Given the description of an element on the screen output the (x, y) to click on. 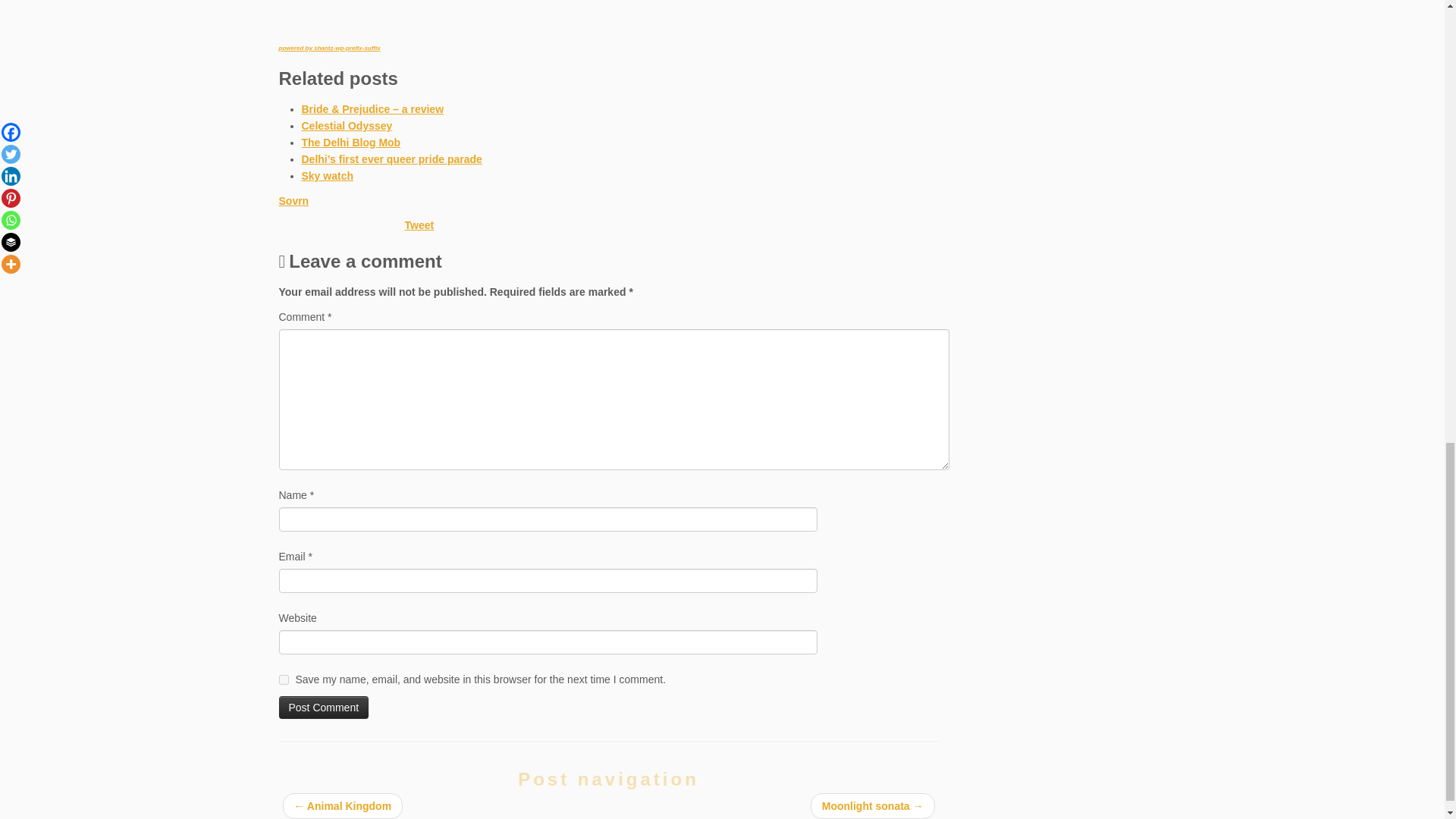
yes (283, 679)
Tweet (418, 224)
Sovrn (293, 200)
Sky watch (327, 175)
Post Comment (324, 707)
Celestial Odyssey (347, 125)
The Delhi Blog Mob (351, 142)
powered by shantz-wp-prefix-suffix (329, 48)
